Given the description of an element on the screen output the (x, y) to click on. 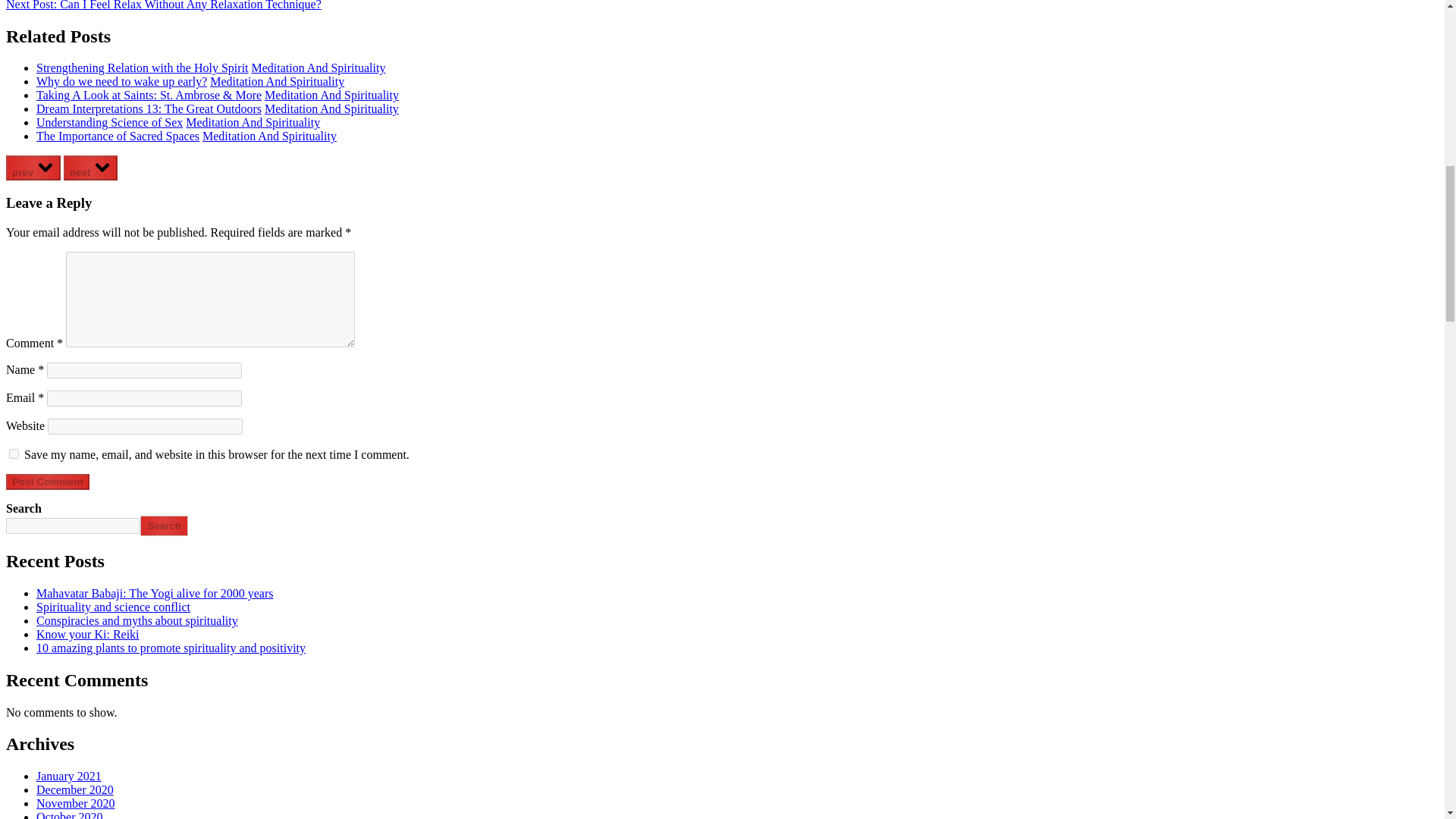
Post Comment (46, 481)
Meditation And Spirituality (269, 135)
Meditation And Spirituality (318, 67)
Why do we need to wake up early? (121, 81)
The Importance of Sacred Spaces (117, 135)
Meditation And Spirituality (253, 122)
Dream Interpretations 13: The Great Outdoors (149, 108)
Meditation And Spirituality (276, 81)
Meditation And Spirituality (331, 108)
yes (13, 453)
Strengthening Relation with the Holy Spirit (142, 67)
prev (33, 167)
Meditation And Spirituality (331, 94)
Understanding Science of Sex (109, 122)
